Given the description of an element on the screen output the (x, y) to click on. 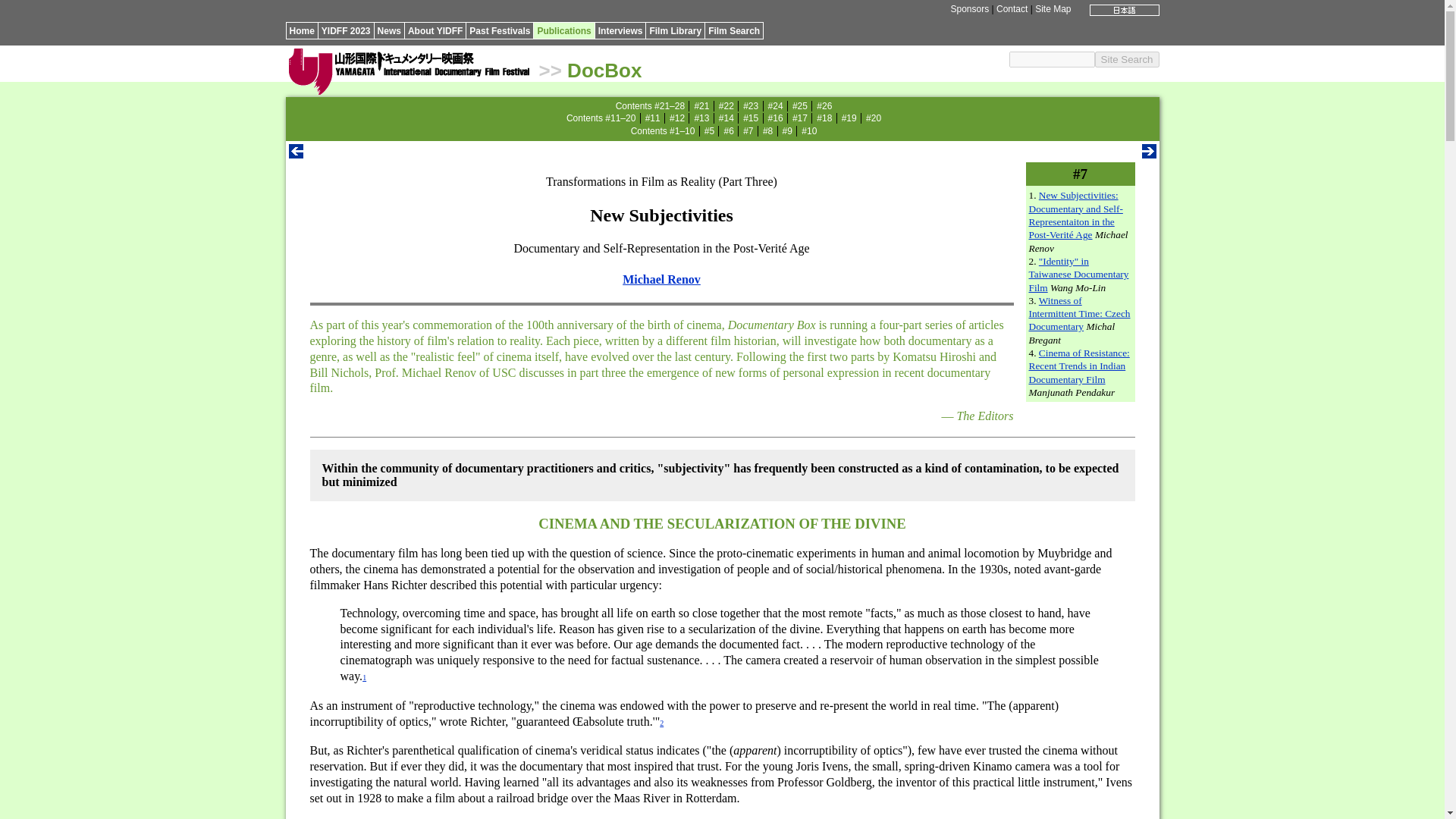
YIDFF 2023 (346, 30)
News (389, 30)
Home (301, 30)
Contact (1011, 9)
About YIDFF (435, 30)
Site Search (1126, 59)
Site Search (1126, 59)
Film Library (675, 30)
Site Map (1052, 9)
Film Search (733, 30)
Past Festivals (498, 30)
previous (295, 154)
DocBox (604, 69)
Sponsors (969, 9)
Interviews (620, 30)
